Given the description of an element on the screen output the (x, y) to click on. 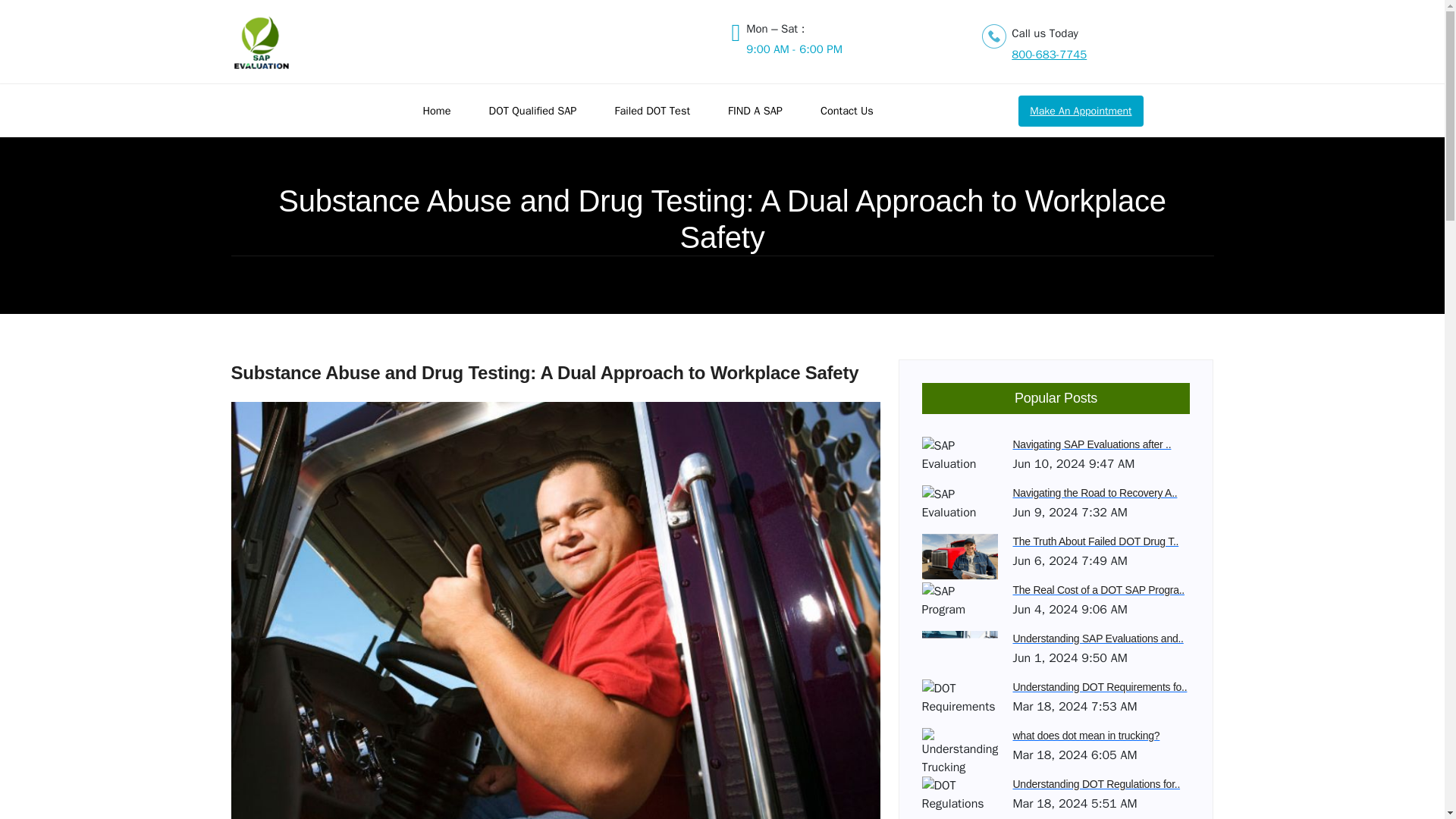
Understanding SAP Evaluations and.. (1102, 638)
The Real Cost of a DOT SAP Progra.. (1102, 589)
Navigating SAP Evaluations after .. (1102, 444)
Make An Appointment (1080, 110)
what does dot mean in trucking? (1102, 735)
Contact Us (858, 110)
Understanding DOT Regulations for.. (1102, 783)
FIND A SAP (766, 110)
DOT Qualified SAP (544, 110)
Understanding DOT Requirements fo.. (1102, 686)
